Given the description of an element on the screen output the (x, y) to click on. 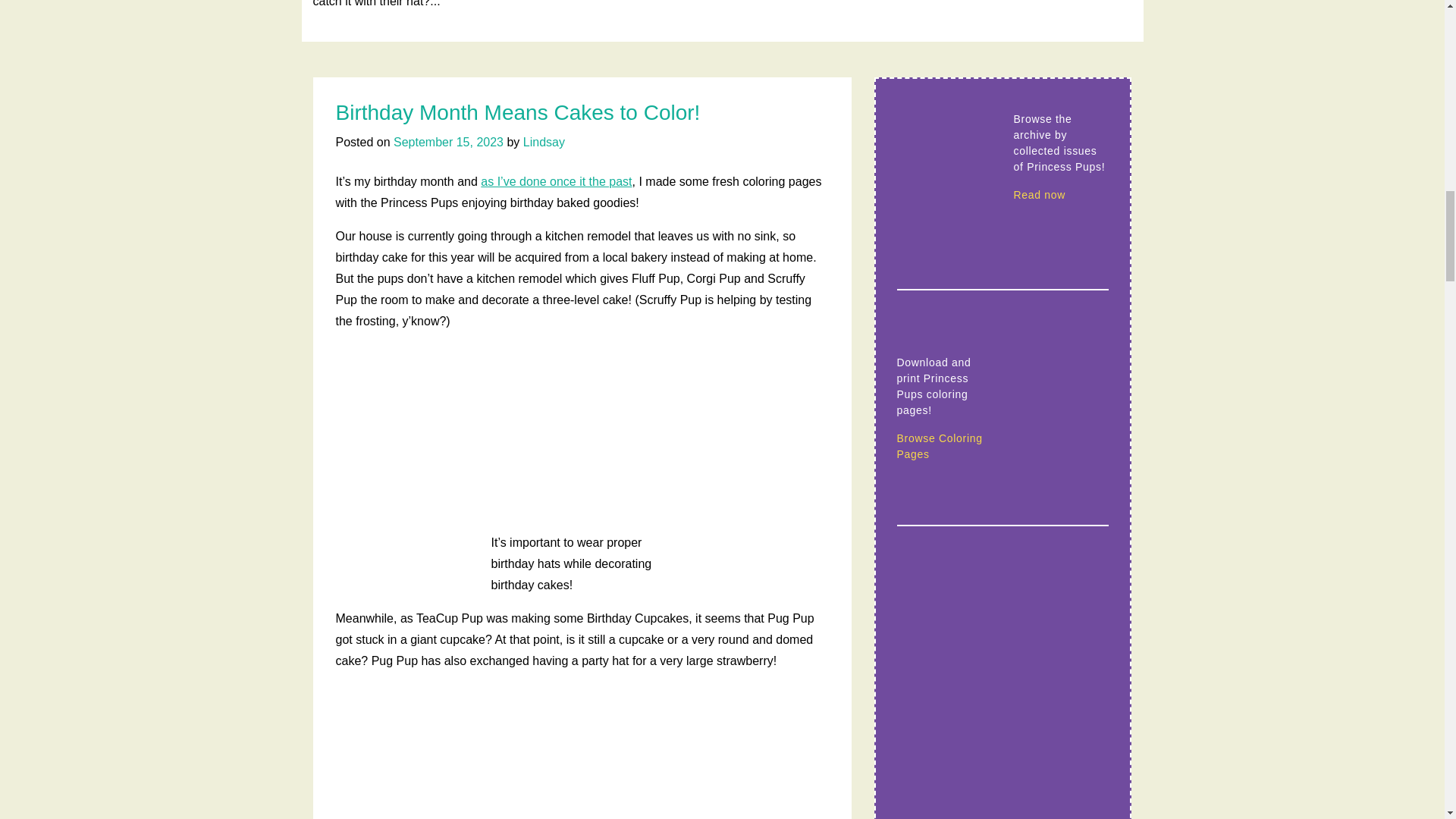
Lindsay (543, 141)
September 15, 2023 (448, 141)
Birthday Month Means Cakes to Color! (517, 112)
